Given the description of an element on the screen output the (x, y) to click on. 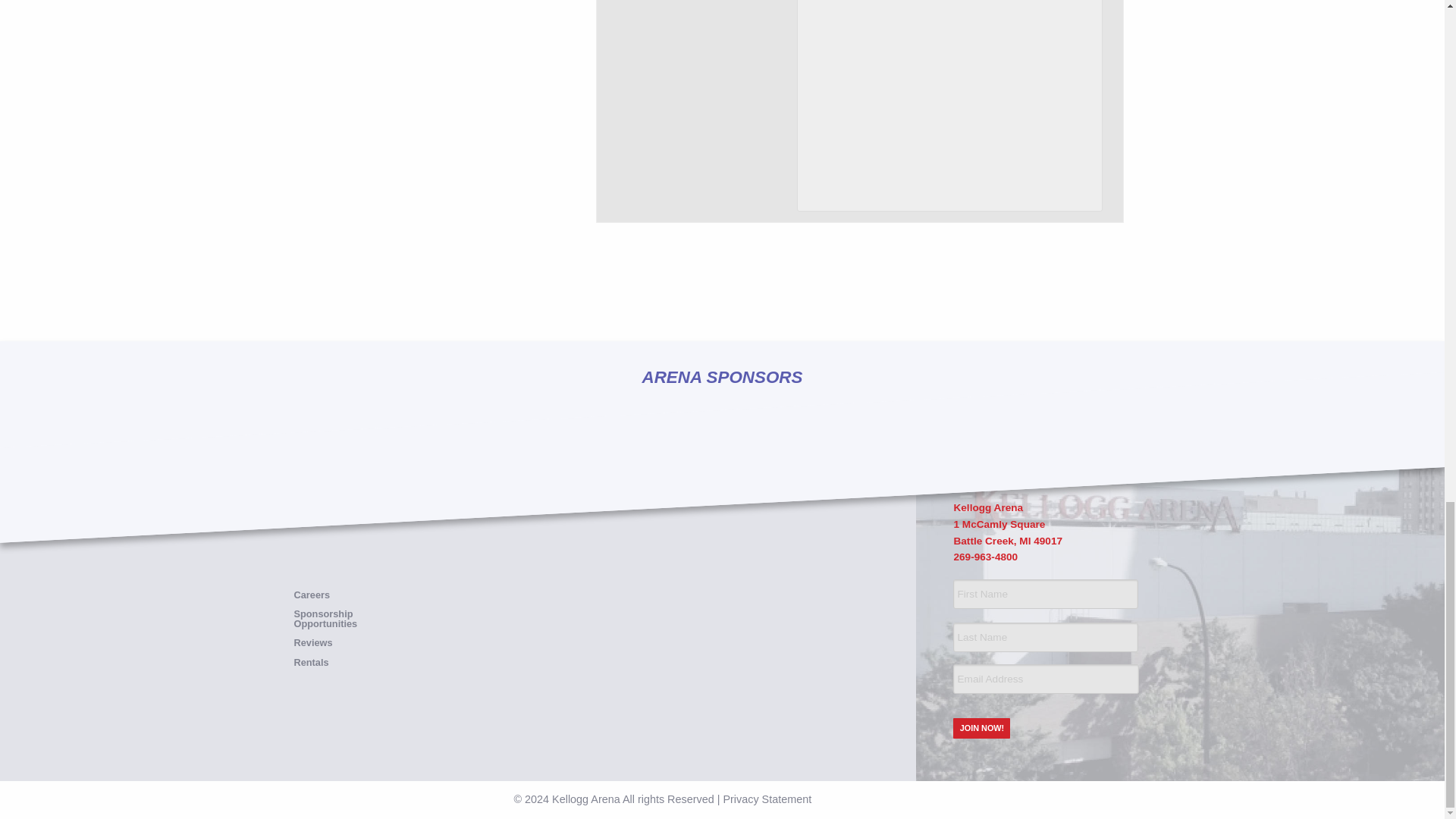
Join Now! (981, 728)
